Given the description of an element on the screen output the (x, y) to click on. 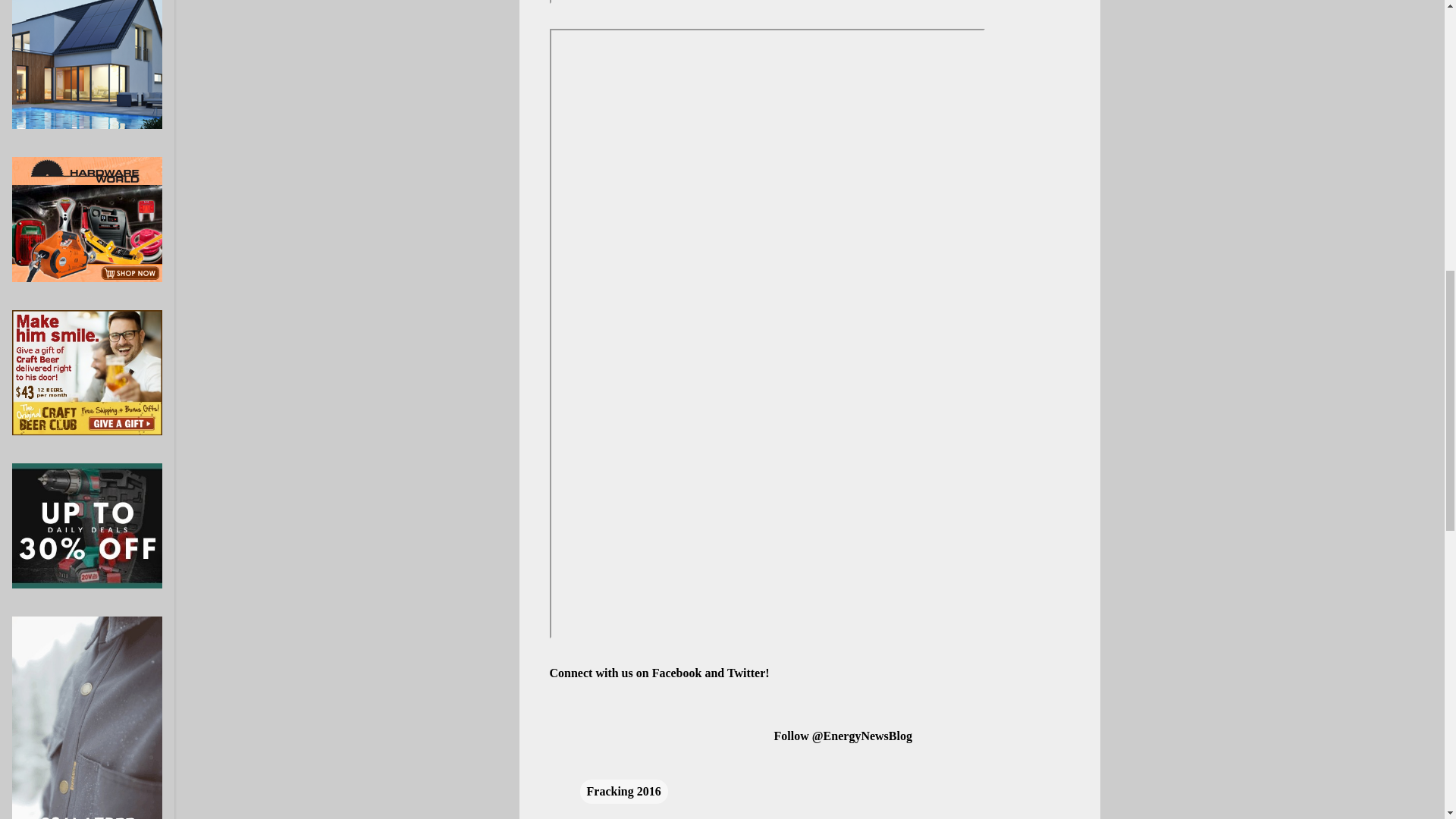
Fracking 2016 (622, 791)
